Given the description of an element on the screen output the (x, y) to click on. 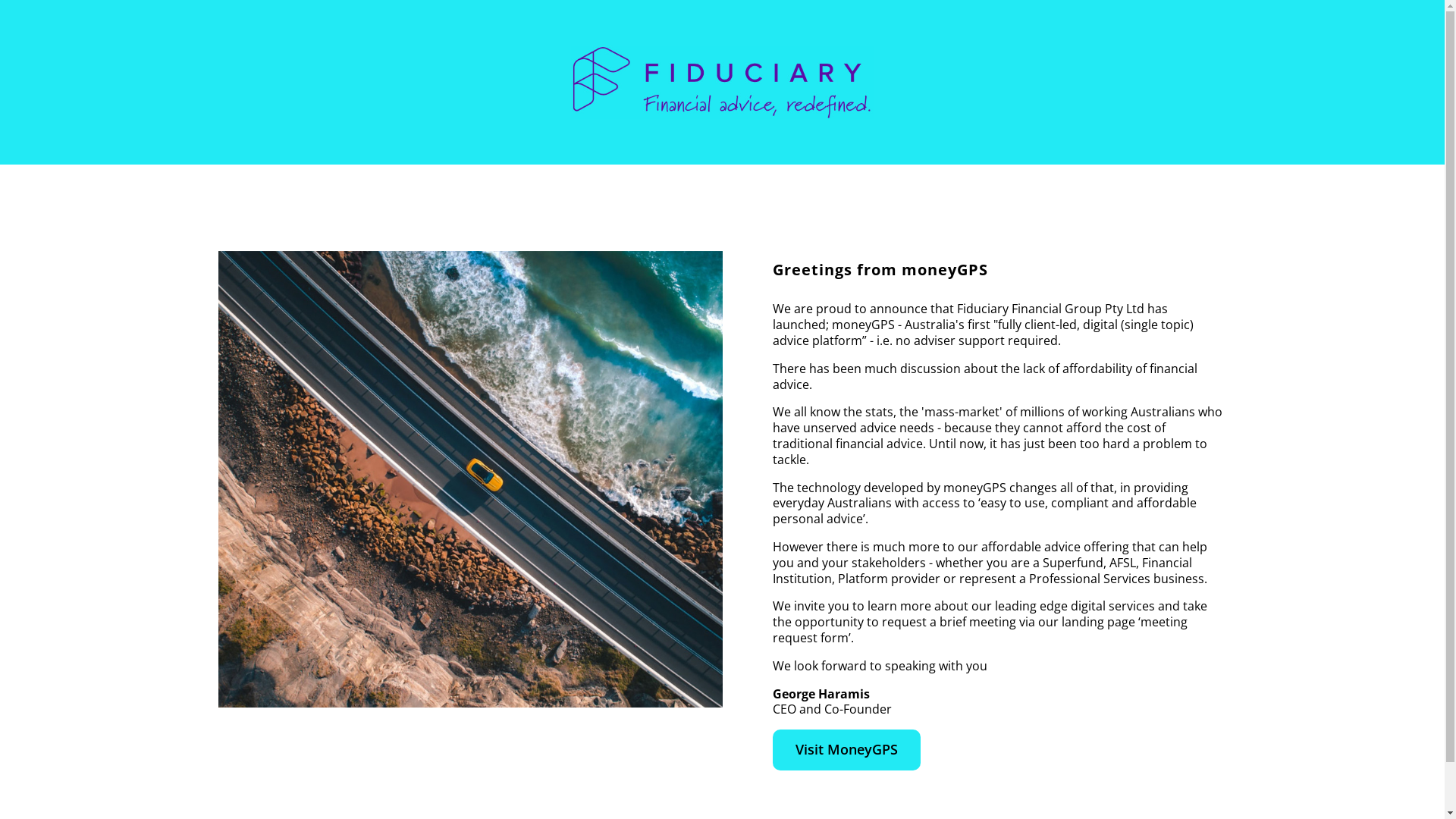
Visit MoneyGPS Element type: text (846, 749)
